Given the description of an element on the screen output the (x, y) to click on. 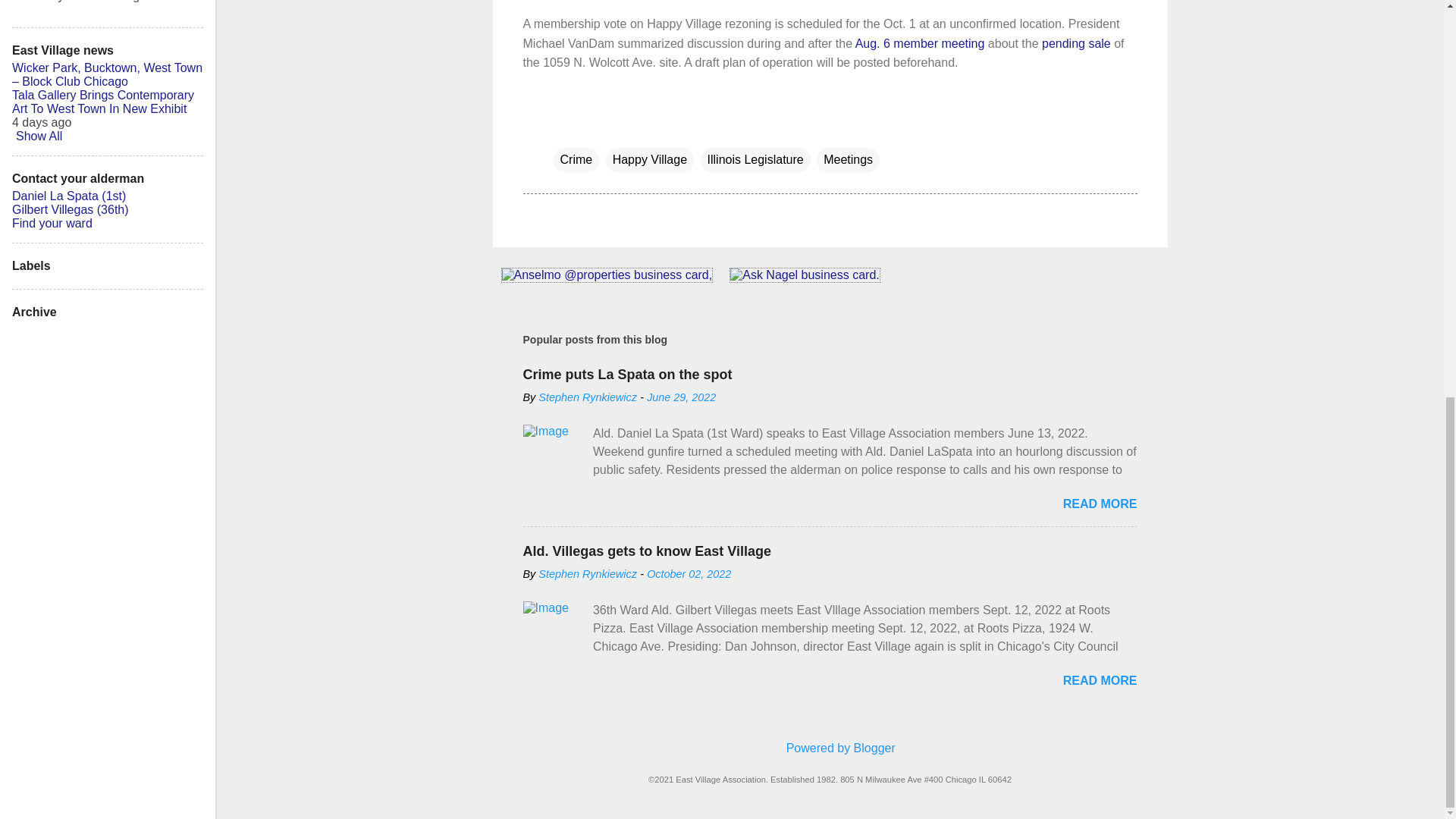
Crime puts La Spata on the spot (627, 374)
Powered by Blogger (829, 748)
Aug. 6 member meeting (920, 42)
READ MORE (1099, 503)
October 02, 2022 (688, 573)
Happy Village (649, 159)
Ald. Villegas gets to know East Village (646, 550)
READ MORE (1099, 680)
Crime (576, 159)
pending sale (1076, 42)
